Given the description of an element on the screen output the (x, y) to click on. 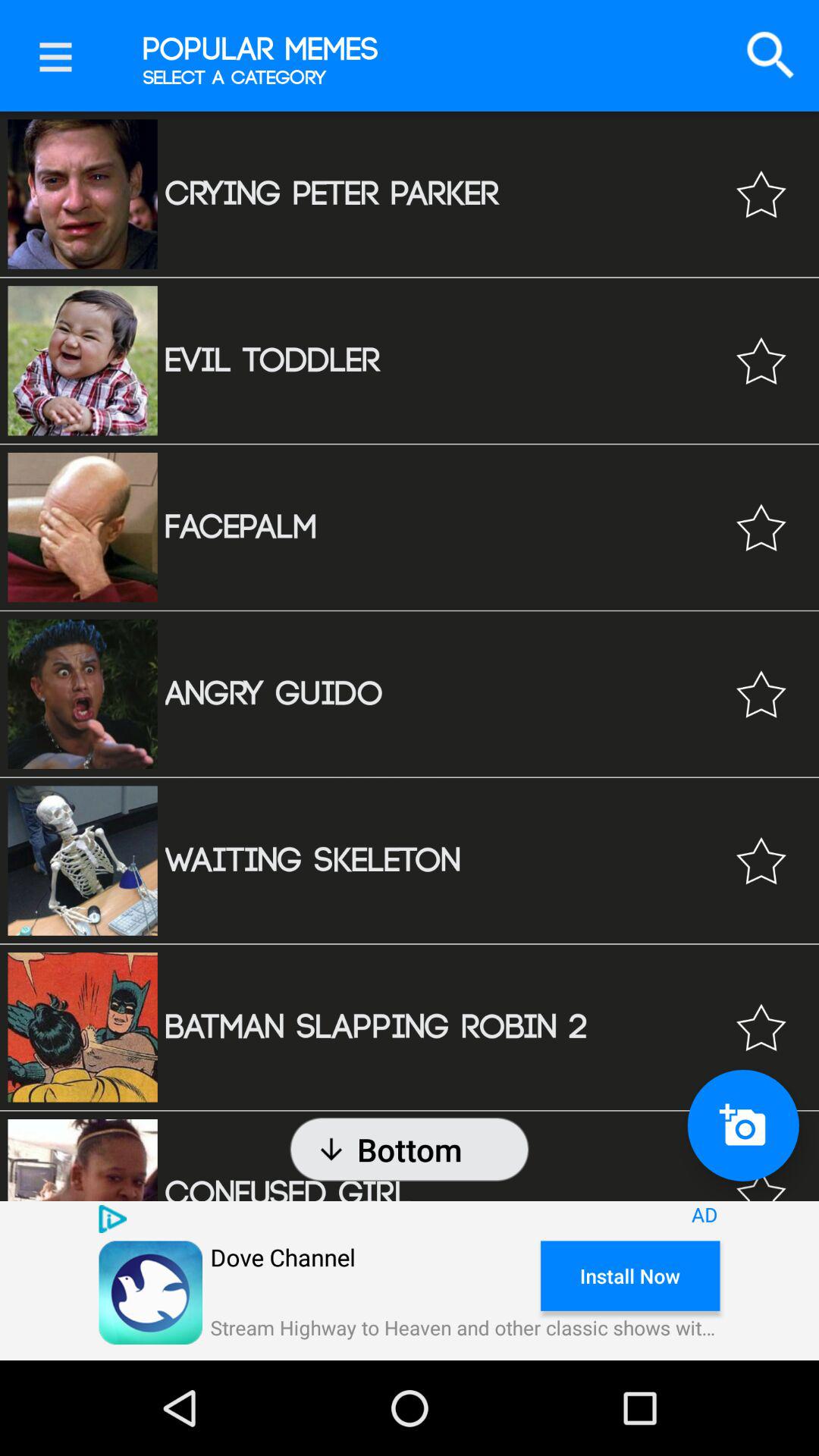
favorite a meme category (761, 193)
